Given the description of an element on the screen output the (x, y) to click on. 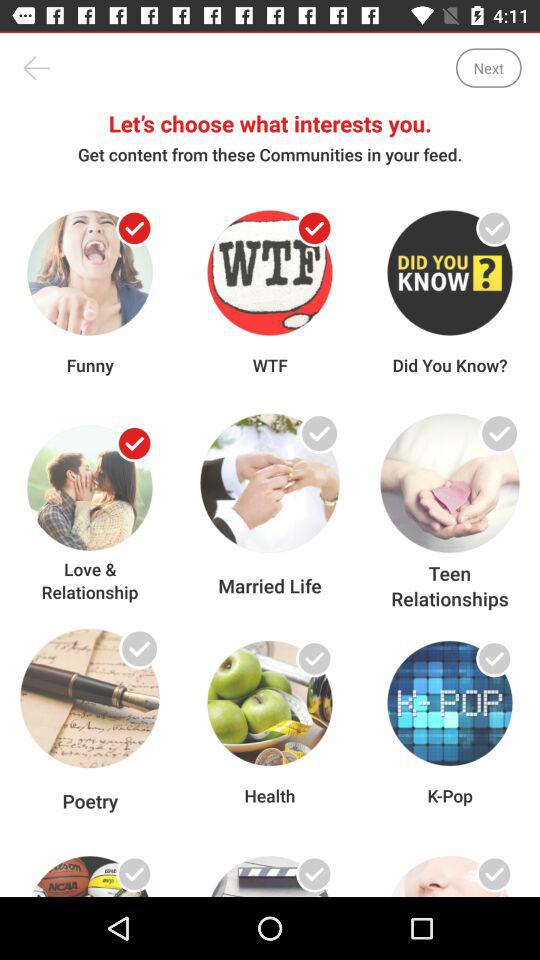
toggle select item (494, 873)
